Given the description of an element on the screen output the (x, y) to click on. 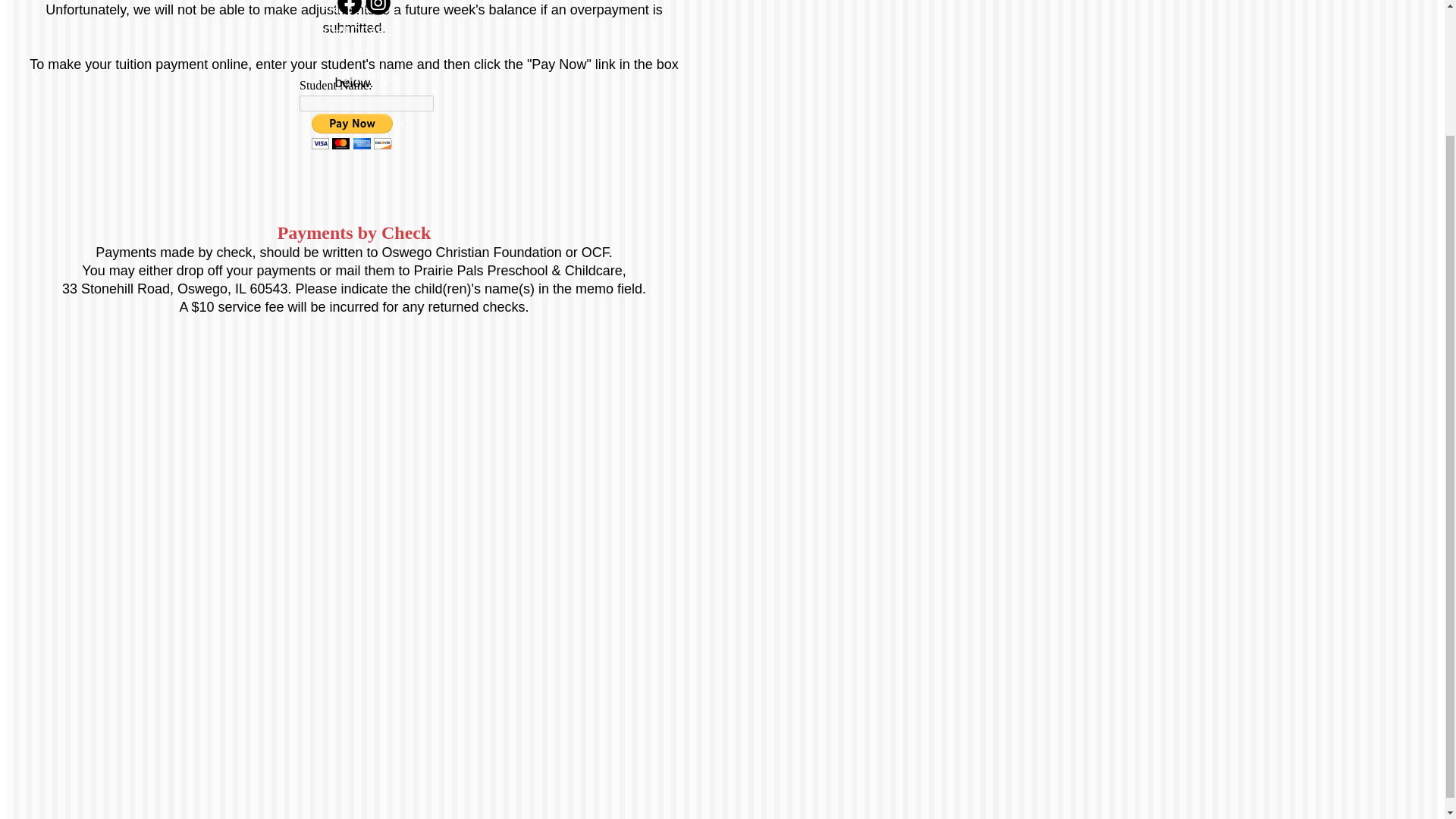
SPONSORS (358, 76)
PRESCHOOL (358, 8)
EMPLOYMENT (358, 99)
MAKE A PAYMENT (357, 122)
CHILDCARE (358, 31)
OCF (359, 53)
